Given the description of an element on the screen output the (x, y) to click on. 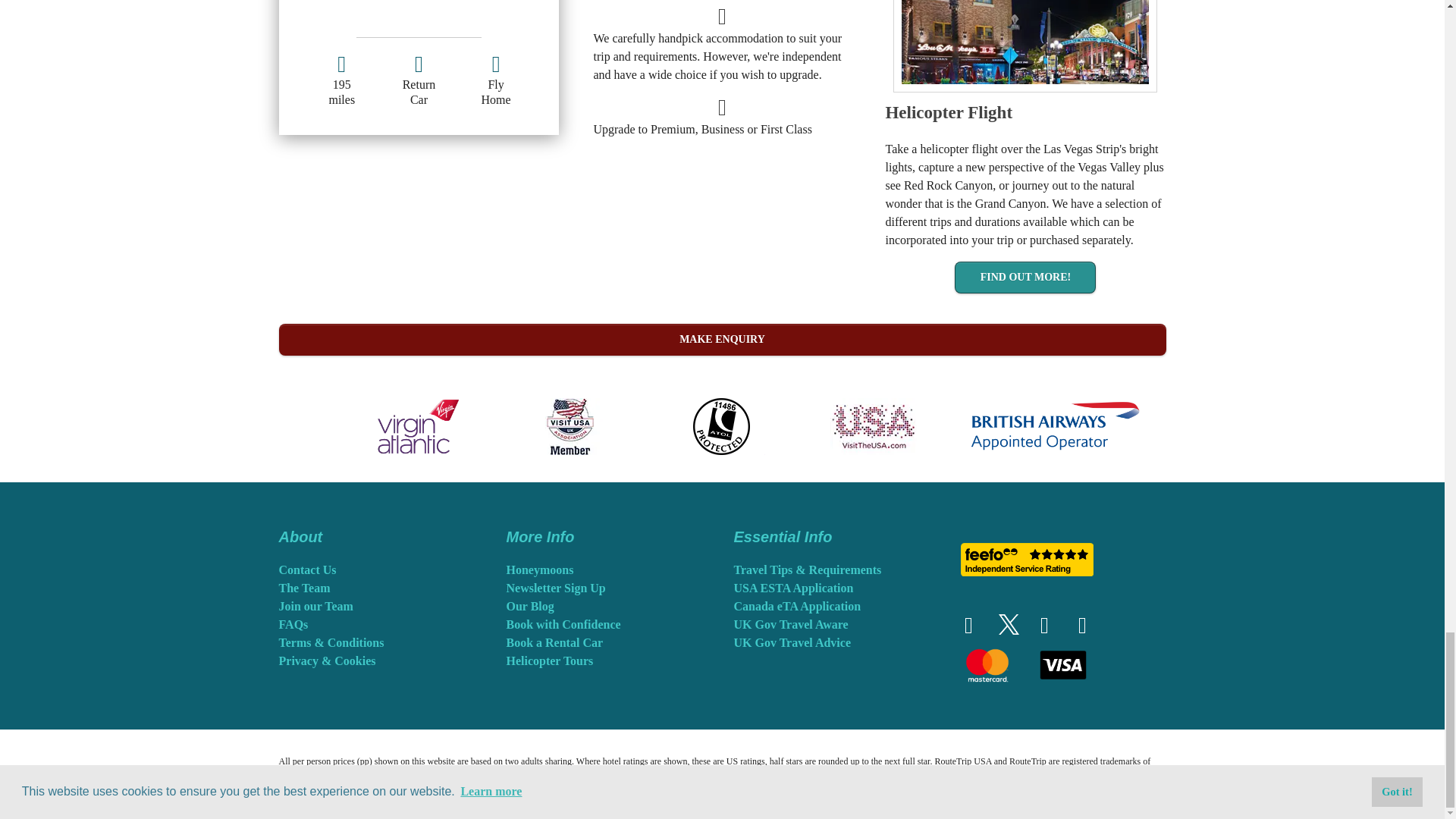
Our customer Feefo rating (1026, 559)
